Given the description of an element on the screen output the (x, y) to click on. 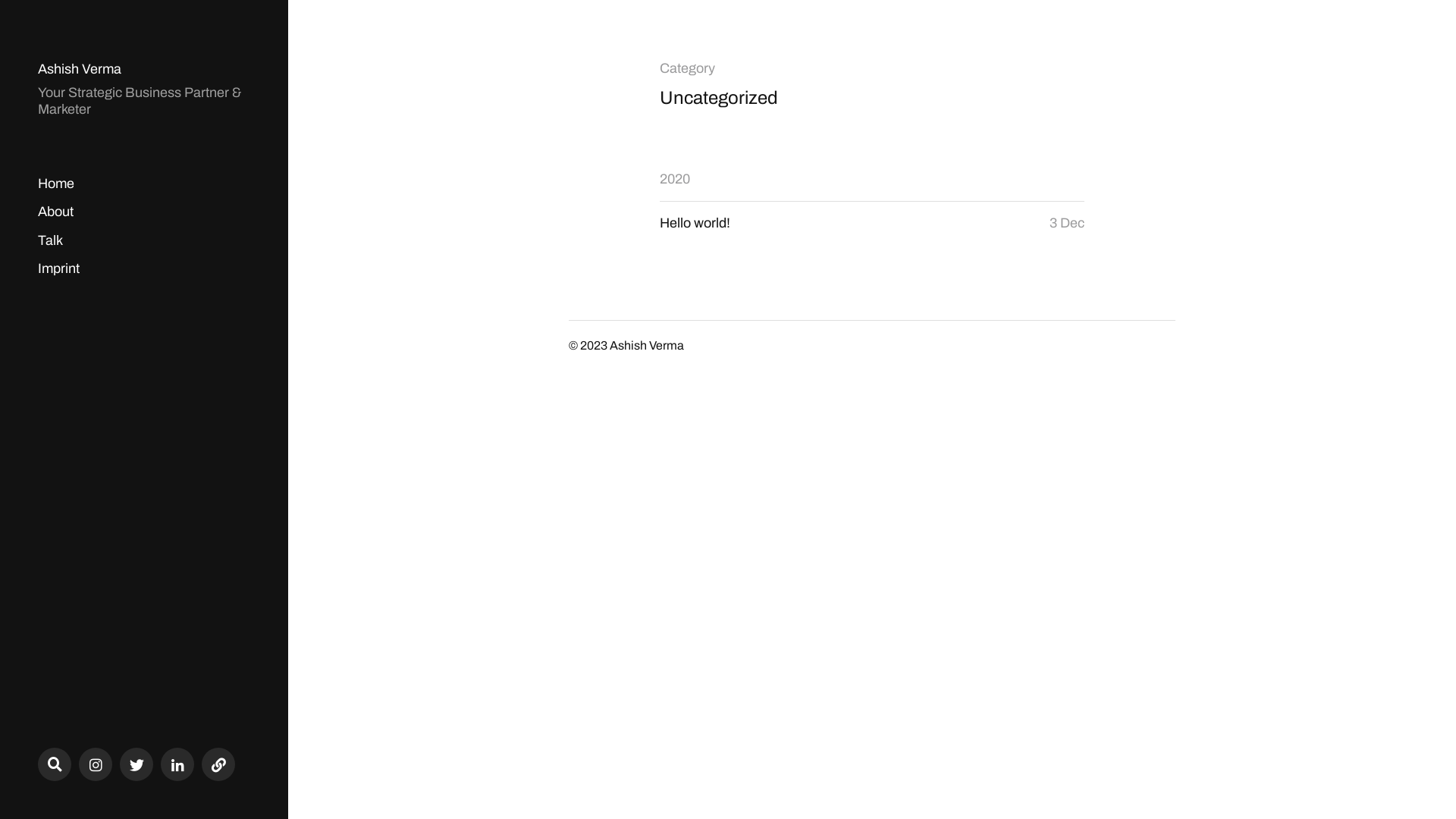
Ashish on Instagram Element type: hover (95, 764)
2020 Element type: text (674, 178)
Home Element type: text (55, 183)
Imprint Element type: text (58, 268)
Ashish on Xing Element type: hover (218, 764)
Ashish Verma Element type: text (646, 345)
Hello world!
3 Dec Element type: text (871, 222)
Ashish on Twitter Element type: hover (136, 764)
Ashish Verma Element type: text (79, 69)
Ashish on LinkedIn Element type: hover (177, 764)
About Element type: text (55, 211)
Talk Element type: text (49, 239)
